Given the description of an element on the screen output the (x, y) to click on. 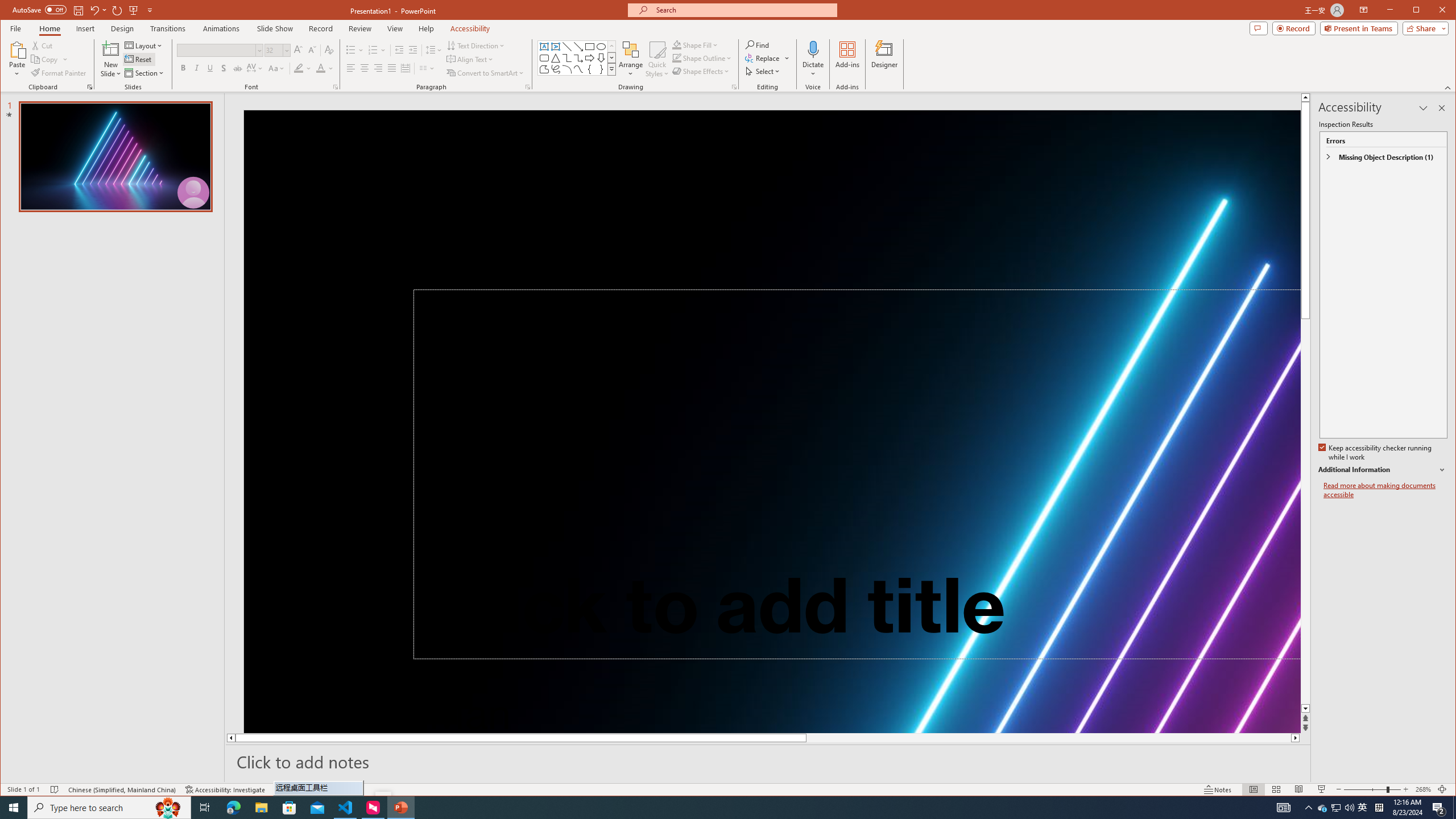
Align Text (470, 59)
Arrow: Down (601, 57)
Format Painter (59, 72)
Increase Indent (412, 49)
Neon laser lights aligned to form a triangle (772, 421)
Action Center, 2 new notifications (1439, 807)
Line Arrow (577, 46)
